Given the description of an element on the screen output the (x, y) to click on. 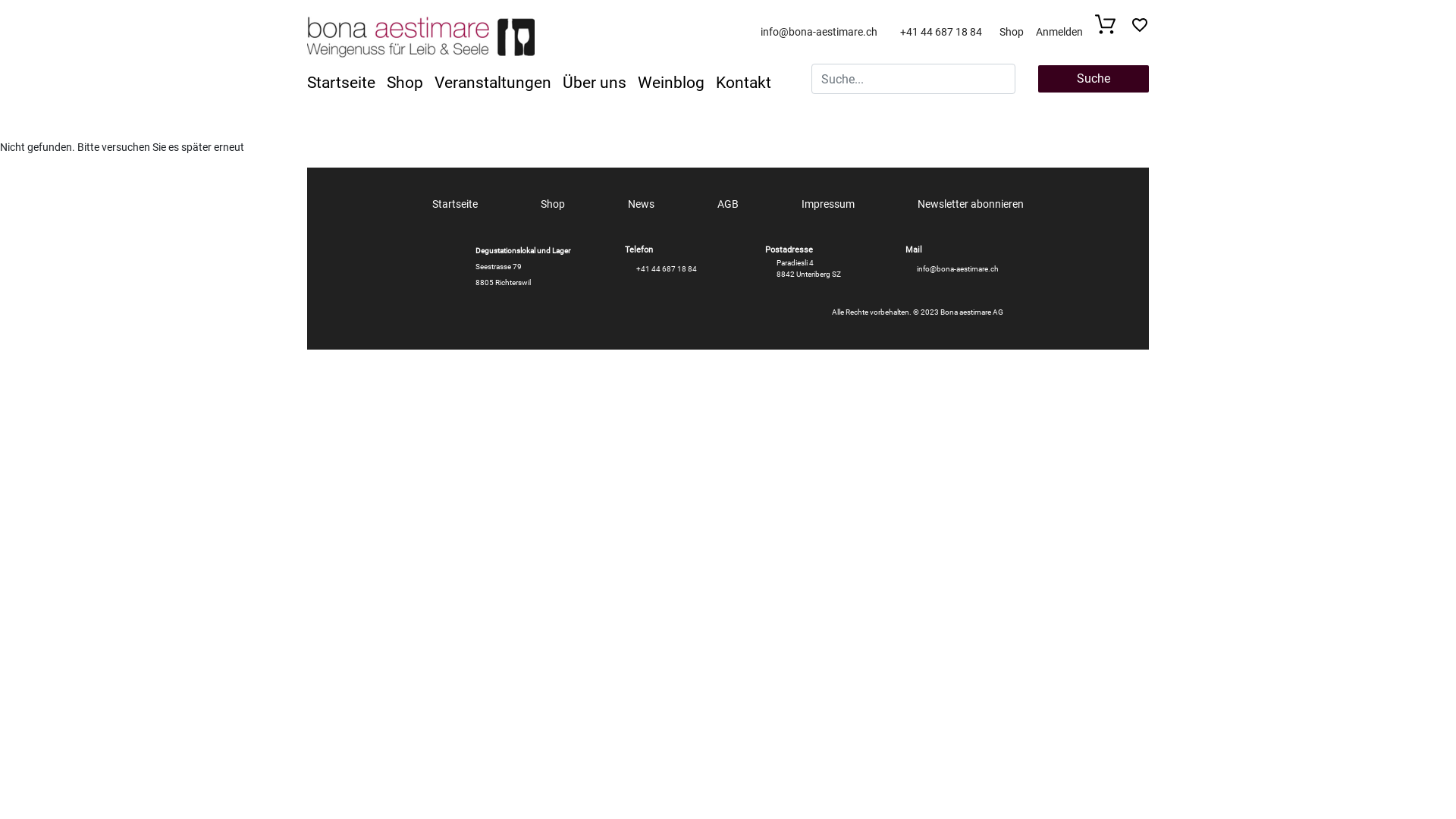
Weinblog Element type: text (676, 82)
Shop Element type: text (552, 203)
Warenkorb Element type: hover (1109, 29)
Startseite Element type: text (346, 82)
Shop Element type: text (410, 82)
Startseite Element type: text (454, 203)
Anmelden Element type: text (1058, 31)
Impressum Element type: text (827, 203)
AGB Element type: text (727, 203)
Newsletter abonnieren Element type: text (970, 203)
Shop Element type: text (1011, 31)
Kontakt Element type: text (748, 82)
Wunschliste Element type: hover (1139, 28)
Veranstaltungen Element type: text (498, 82)
Suche Element type: text (1093, 78)
News Element type: text (640, 203)
info@bona-aestimare.ch Element type: text (824, 31)
